Given the description of an element on the screen output the (x, y) to click on. 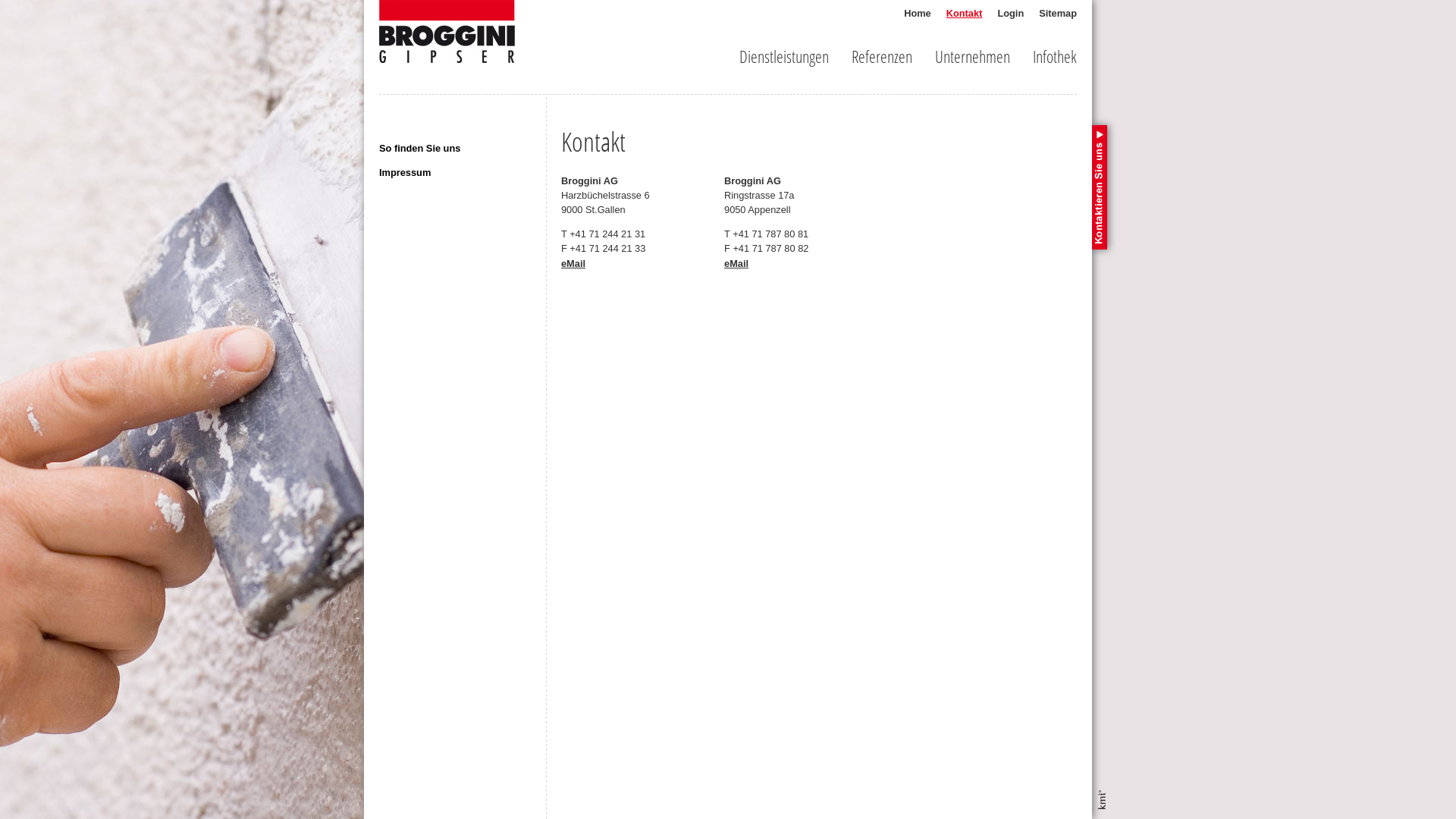
Impressum Element type: text (462, 172)
Dienstleistungen Element type: text (783, 50)
Kontakt Element type: text (964, 12)
eMail Element type: text (736, 263)
Broggini Gipser kontaktieren Element type: hover (1099, 245)
eMail Element type: text (573, 263)
Login Element type: text (1010, 12)
info@broggini.ch Element type: text (991, 230)
Unternehmen Element type: text (972, 50)
Referenzen Element type: text (881, 50)
Home Element type: text (917, 12)
So finden Sie uns Element type: text (462, 148)
Infothek Element type: text (1054, 50)
Home von Broggini Gipser laden Element type: hover (446, 59)
TYPO3 Website by Keel Marktideen AG Element type: hover (1101, 805)
Sitemap Element type: text (1057, 12)
